Given the description of an element on the screen output the (x, y) to click on. 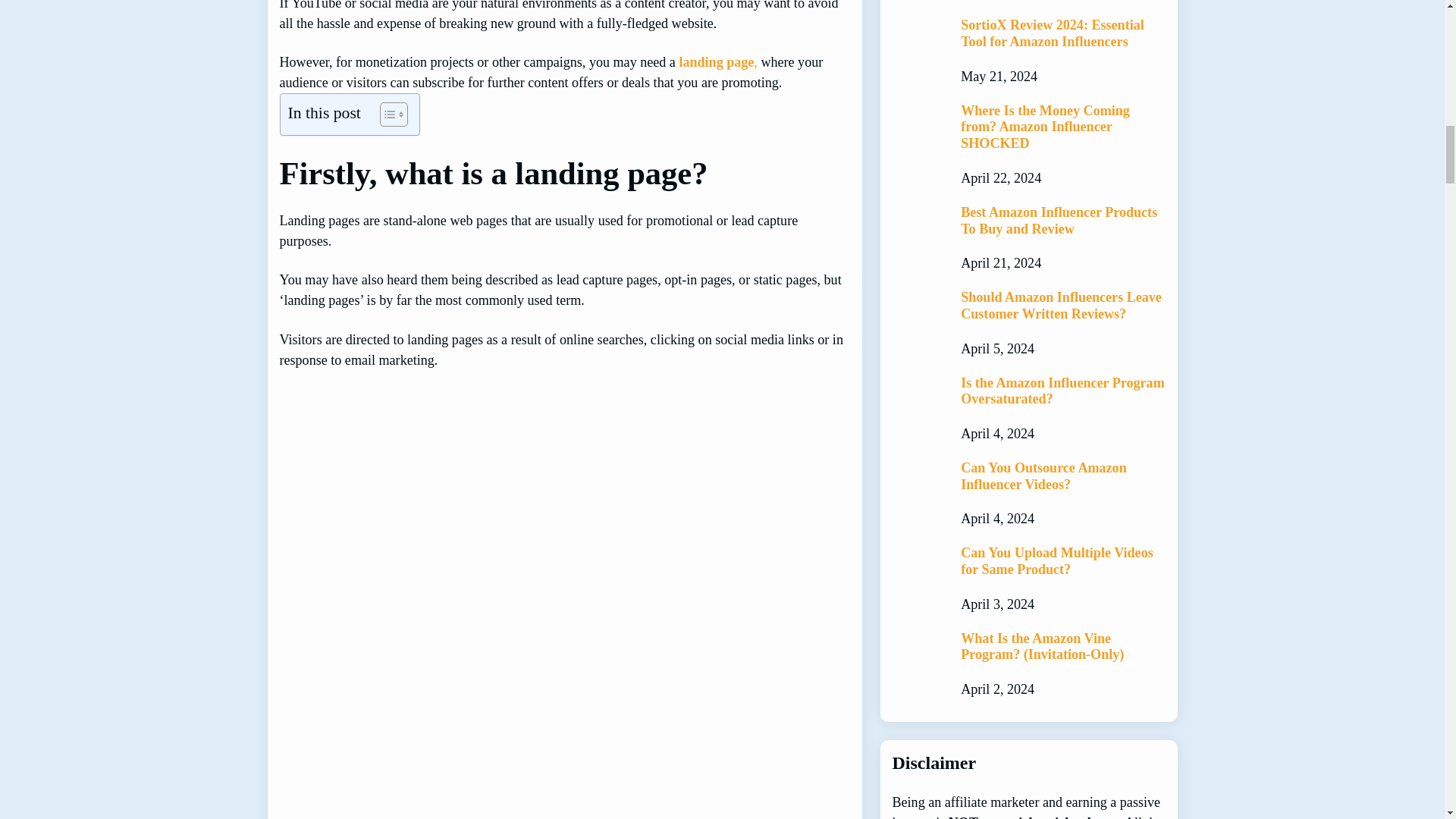
landing page, (717, 61)
